Given the description of an element on the screen output the (x, y) to click on. 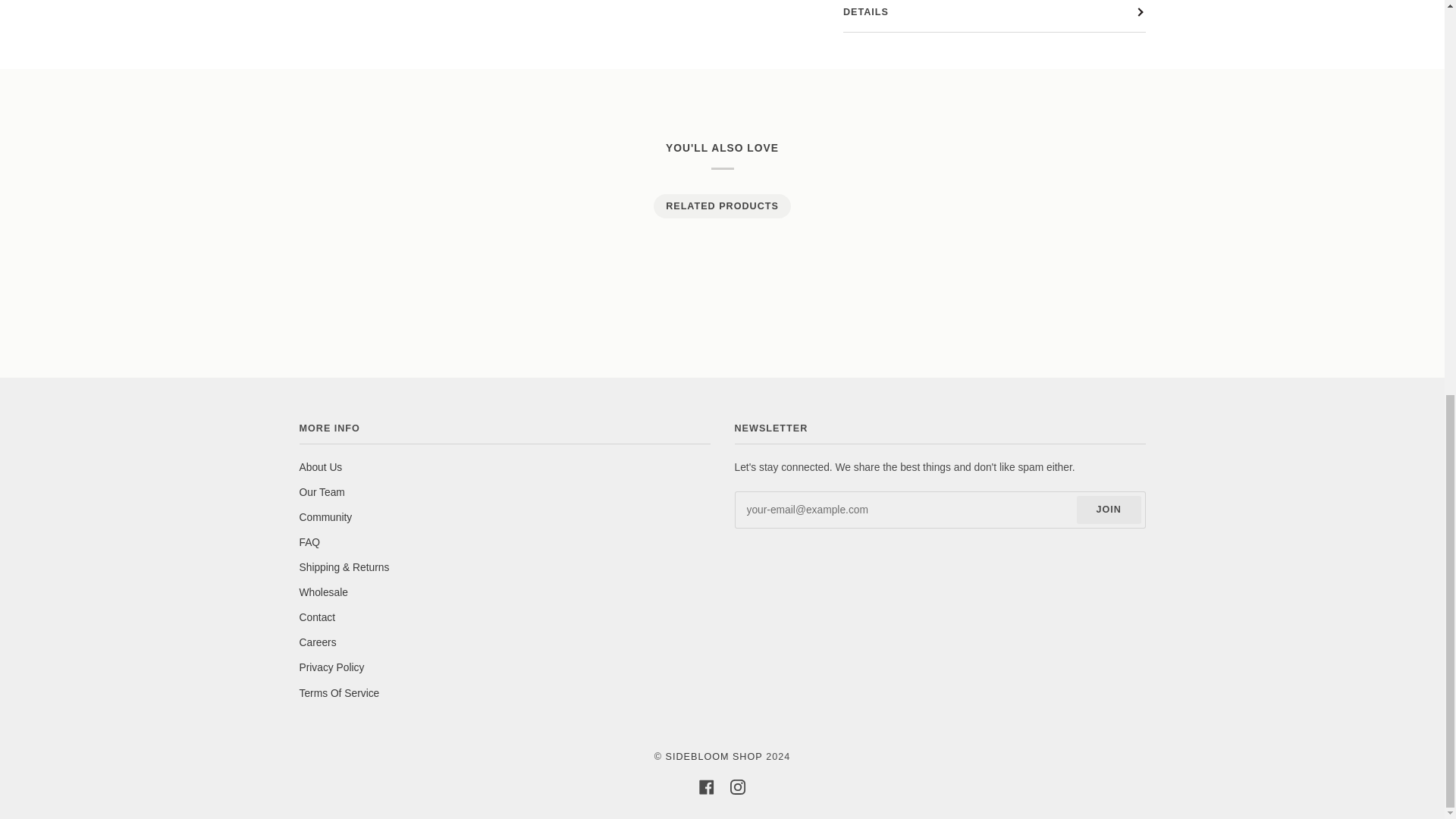
Facebook (706, 786)
RELATED PRODUCTS (721, 206)
Instagram (737, 786)
